Given the description of an element on the screen output the (x, y) to click on. 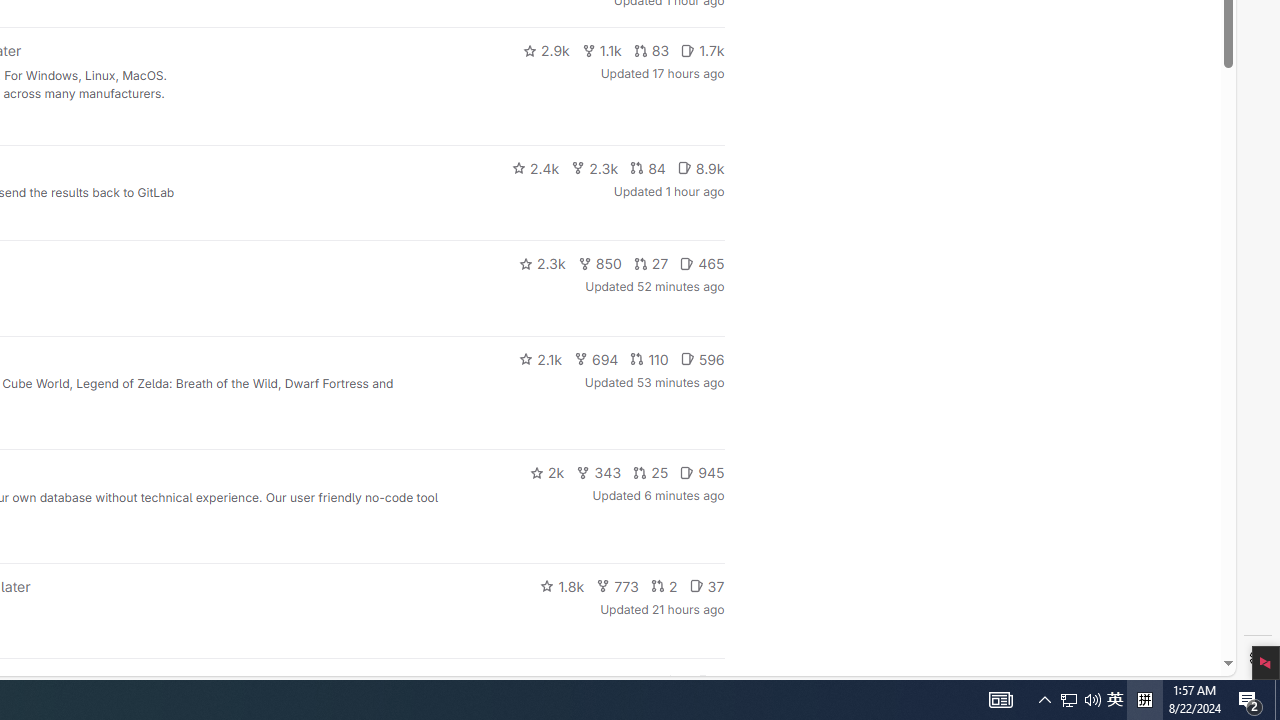
110 (649, 358)
2 (664, 585)
1.7k (702, 50)
2k (546, 472)
1.4k (573, 681)
6 (710, 681)
8.9k (700, 167)
1.1k (601, 50)
83 (651, 50)
2.1k (539, 358)
2.4k (535, 167)
465 (701, 263)
1.8k (562, 585)
